Given the description of an element on the screen output the (x, y) to click on. 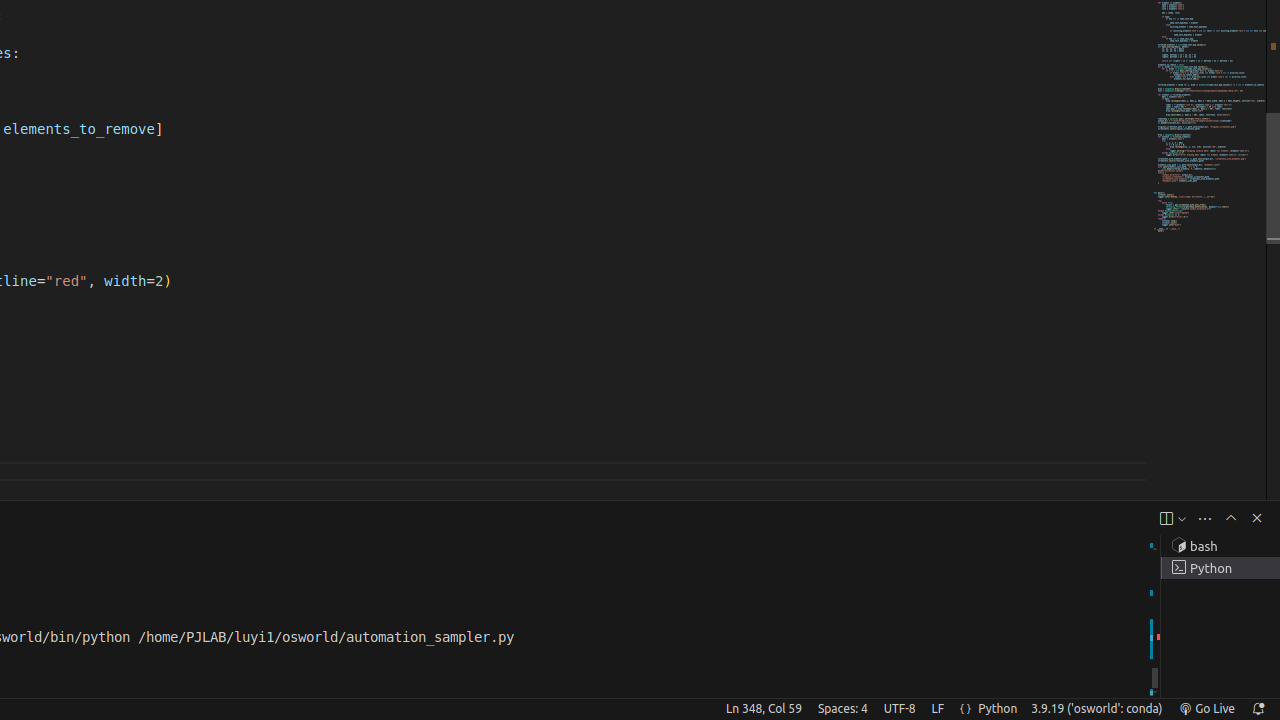
UTF-8 Element type: push-button (899, 709)
Terminal 5 Python Element type: list-item (1220, 568)
Notifications Element type: push-button (1258, 709)
3.9.19 ('osworld': conda), ~/anaconda3/envs/osworld/bin/python Element type: push-button (1097, 709)
Spaces: 4 Element type: push-button (842, 709)
